Given the description of an element on the screen output the (x, y) to click on. 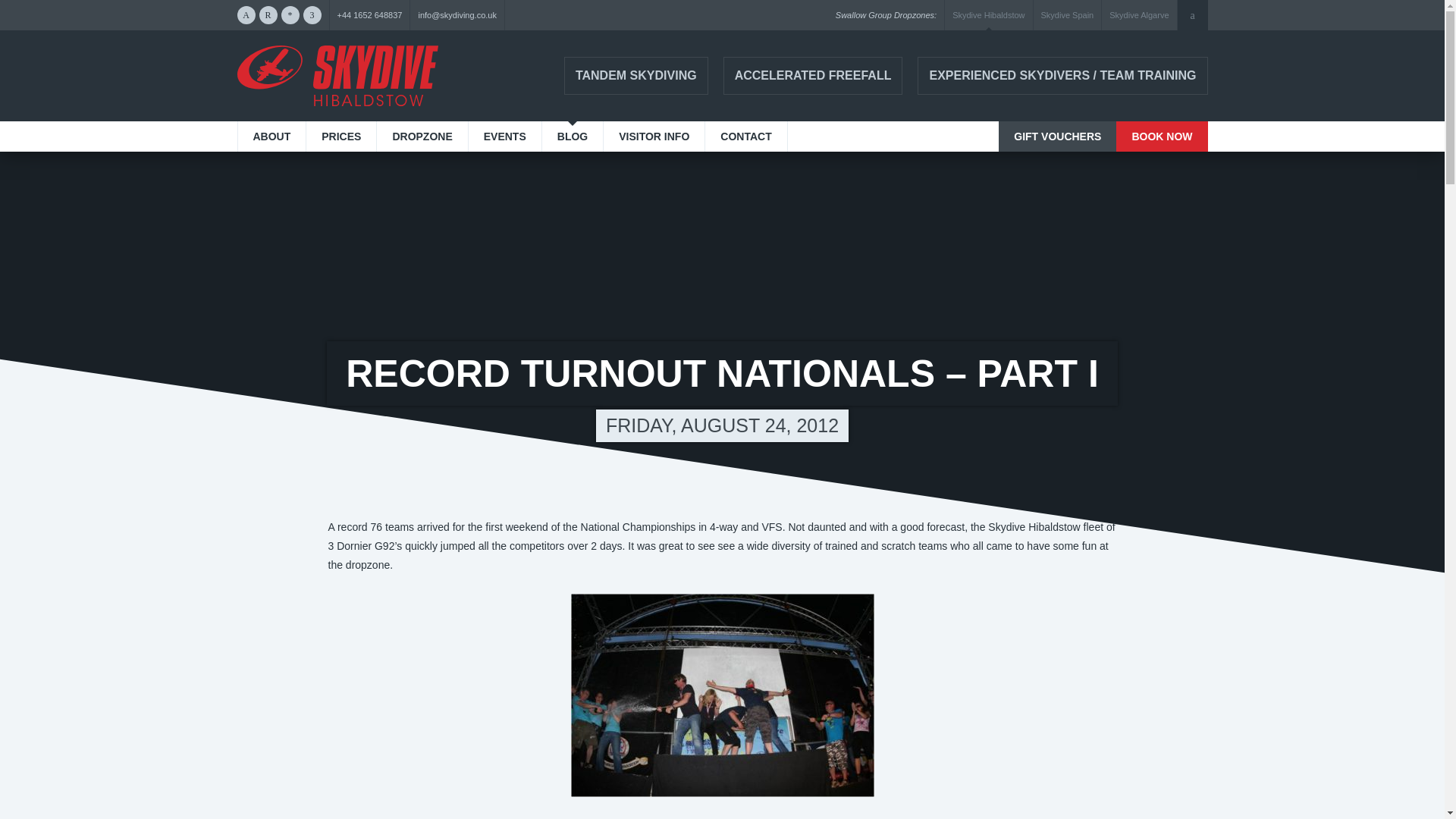
PRICES (340, 136)
TANDEM SKYDIVING (635, 75)
ABOUT (271, 136)
ACCELERATED FREEFALL (812, 75)
Skydive Spain (1067, 15)
Skydive Hibaldstow (988, 15)
Skydive Algarve (1139, 15)
Skydive Hibaldstow (336, 75)
